Given the description of an element on the screen output the (x, y) to click on. 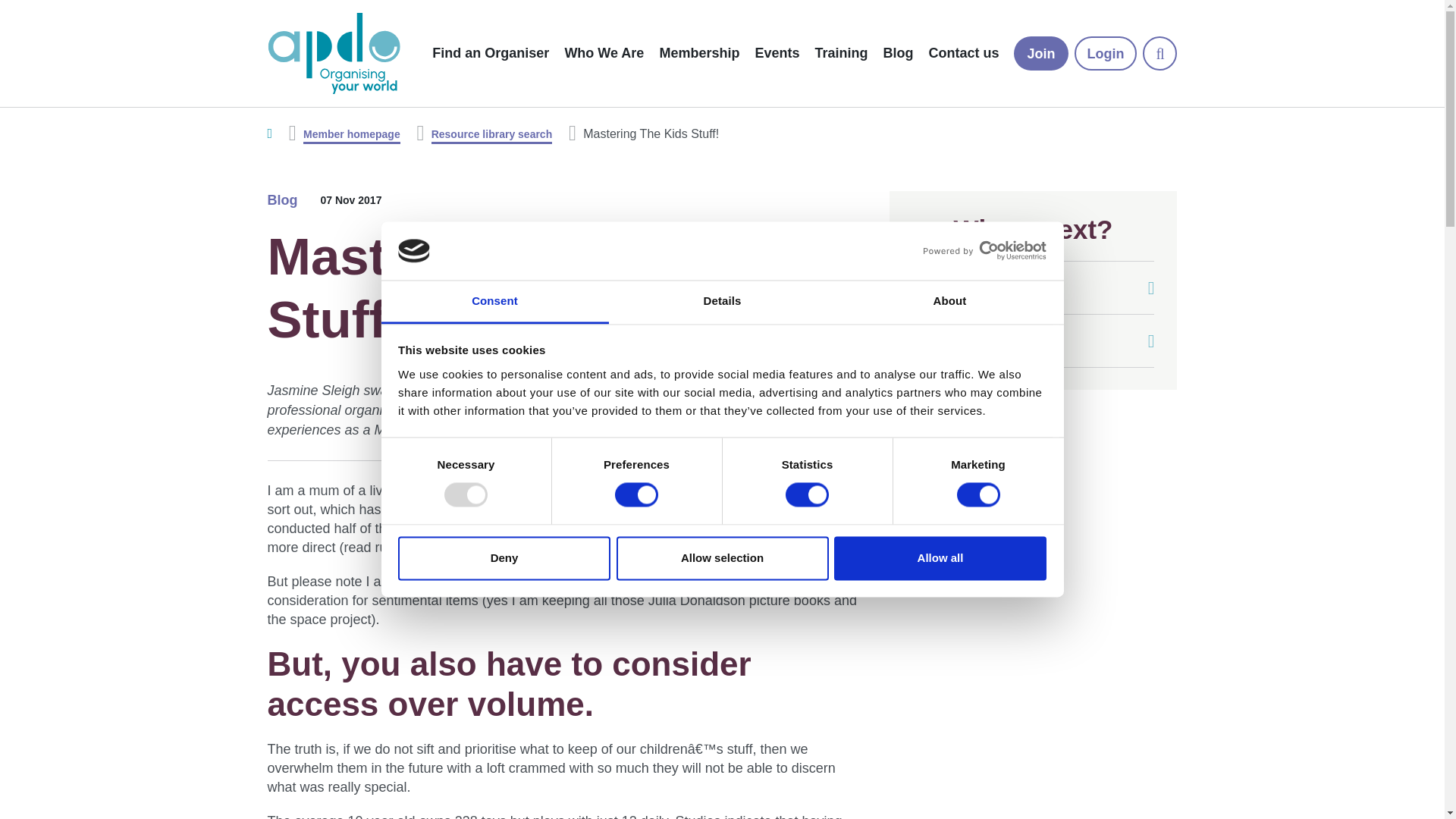
Skip to content (312, 124)
Deny (503, 557)
Find an organiser (1032, 287)
Details (721, 301)
linkedin (950, 492)
Allow selection (721, 557)
Consent (494, 301)
twitter (907, 492)
About (948, 301)
Find an Organiser (490, 53)
facebook (991, 492)
Who we are (1032, 340)
Allow all (940, 557)
